Given the description of an element on the screen output the (x, y) to click on. 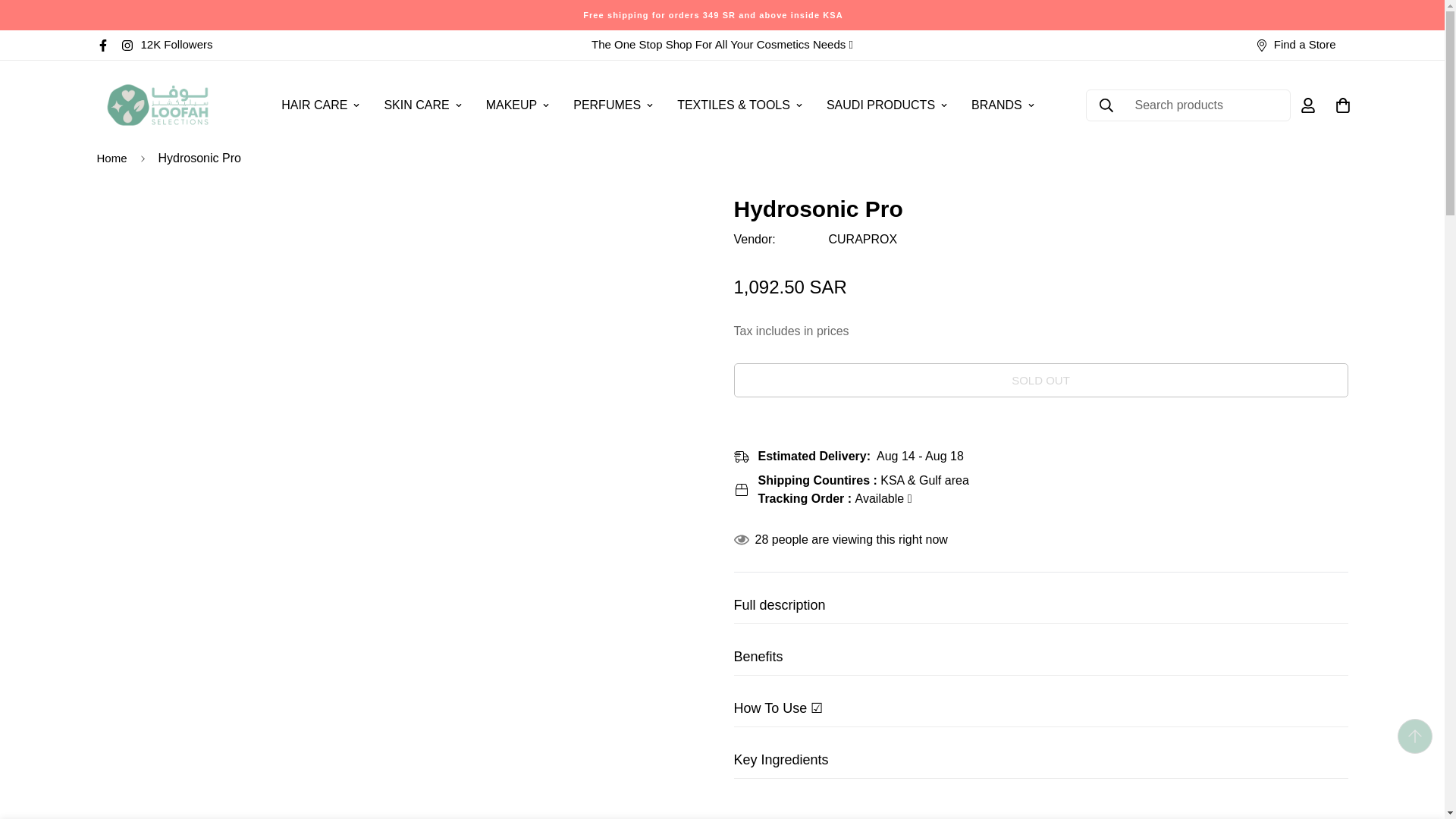
HAIR CARE (320, 104)
12K Followers (173, 45)
Back to the home page (111, 158)
Find a Store (1295, 45)
SKIN CARE (422, 104)
CURAPROX (862, 238)
